Given the description of an element on the screen output the (x, y) to click on. 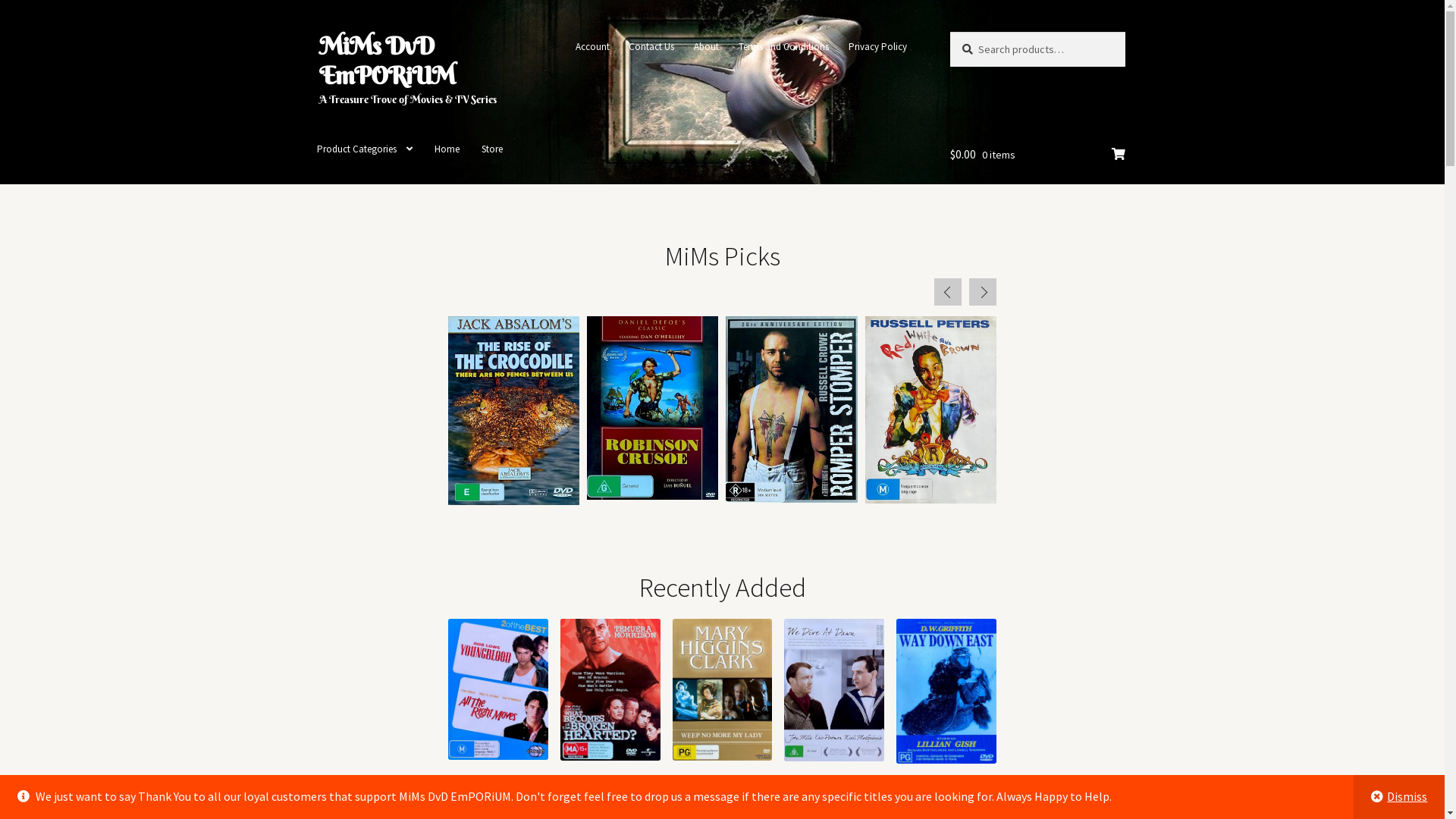
Way Down East Element type: text (946, 707)
Skip to navigation Element type: text (318, 31)
Home Element type: text (446, 148)
Product Categories Element type: text (364, 148)
MiMs DvD EmPORiUM Element type: text (387, 60)
About Element type: text (706, 46)
Contact Us Element type: text (651, 46)
$0.00 0 items Element type: text (1037, 154)
Search Element type: text (949, 31)
Account Element type: text (592, 46)
Privacy Policy Element type: text (877, 46)
Store Element type: text (491, 148)
Terms and Conditions Element type: text (783, 46)
